Given the description of an element on the screen output the (x, y) to click on. 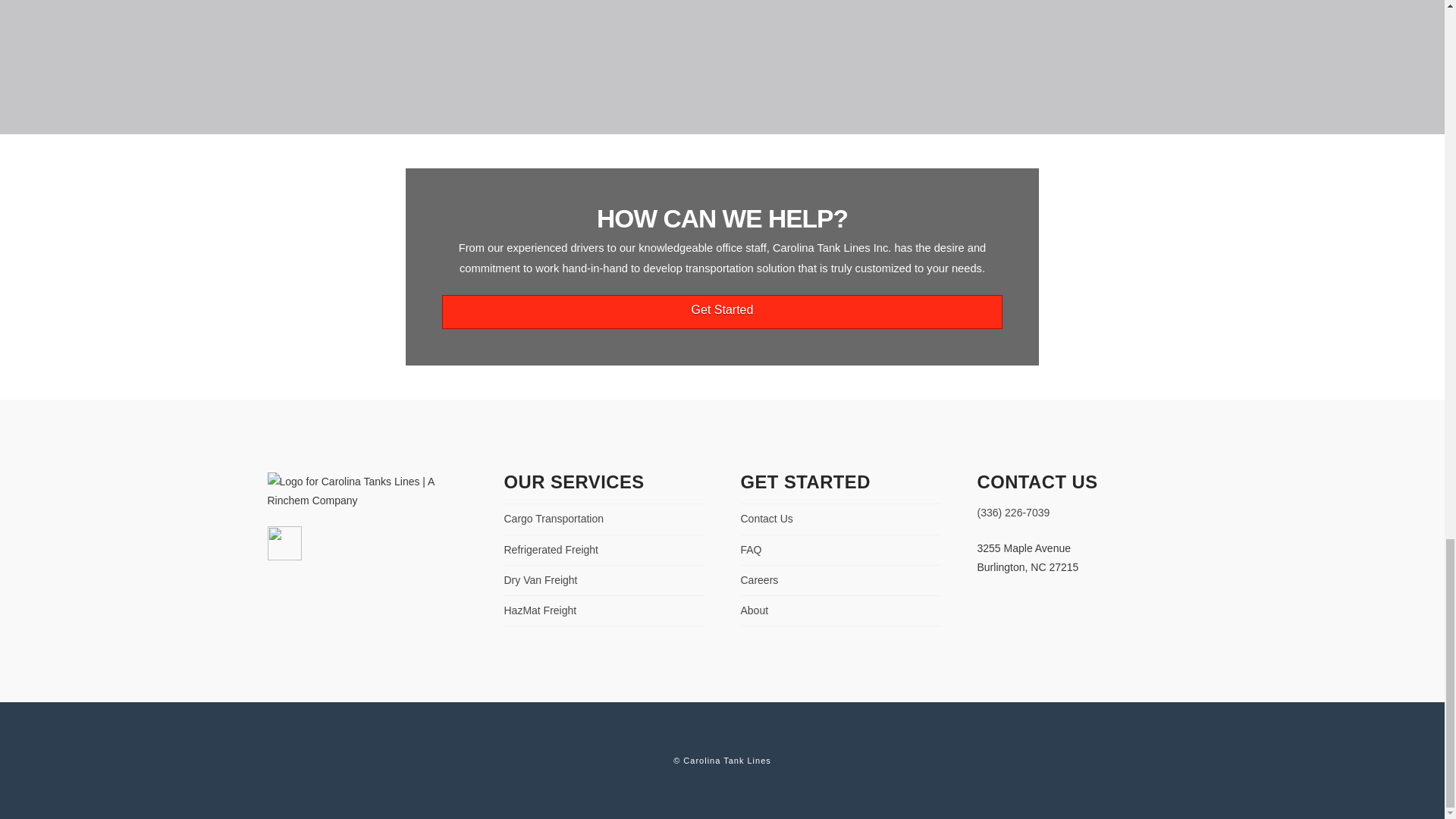
FAQ (750, 549)
Get Started (722, 311)
Cargo Transportation (553, 519)
Dry Van Freight (539, 580)
Careers (758, 580)
HazMat Freight (539, 610)
Contact Us (765, 519)
About (753, 610)
Refrigerated Freight (550, 549)
